Given the description of an element on the screen output the (x, y) to click on. 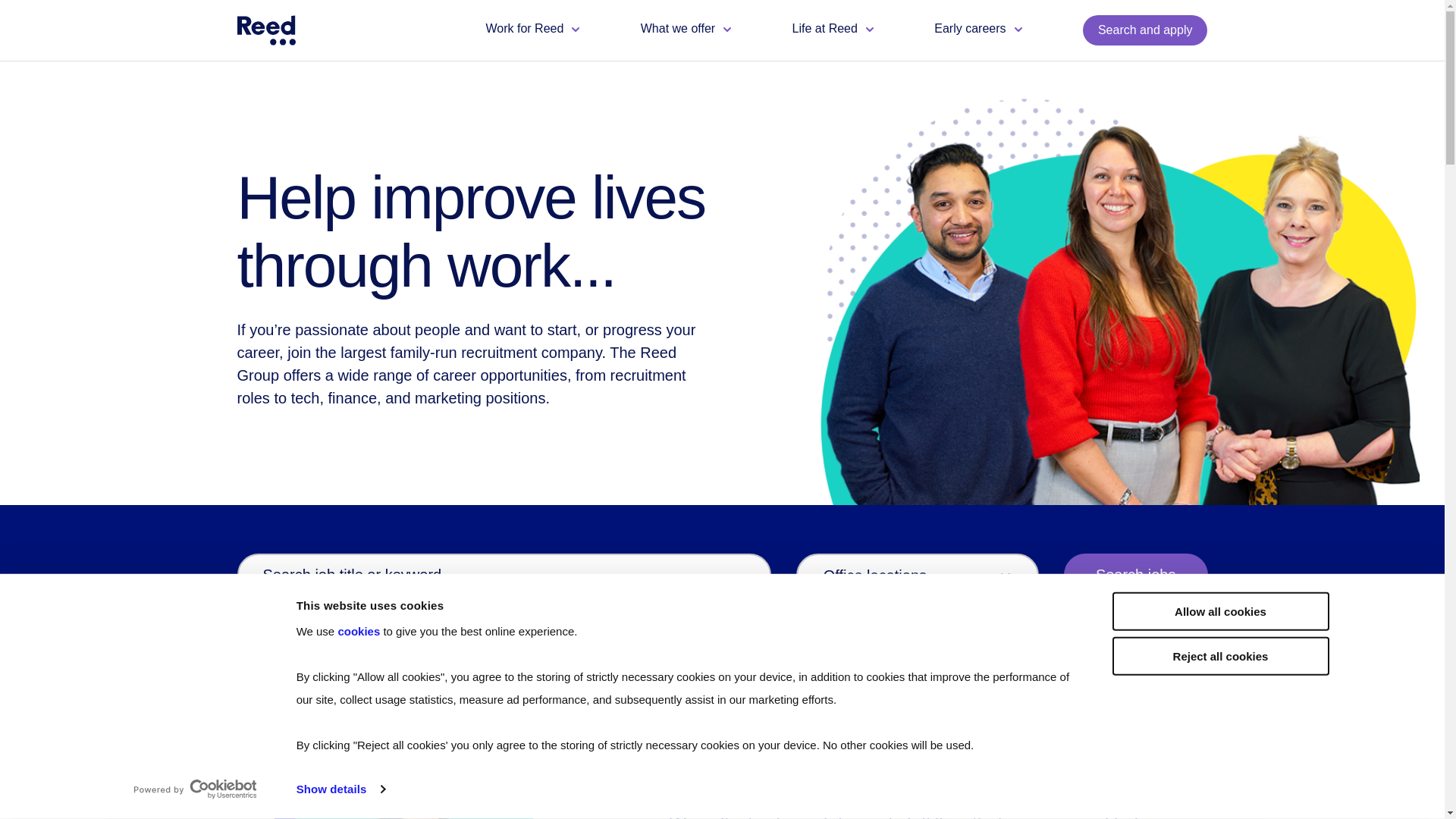
cookies (359, 631)
Show details (340, 789)
